Given the description of an element on the screen output the (x, y) to click on. 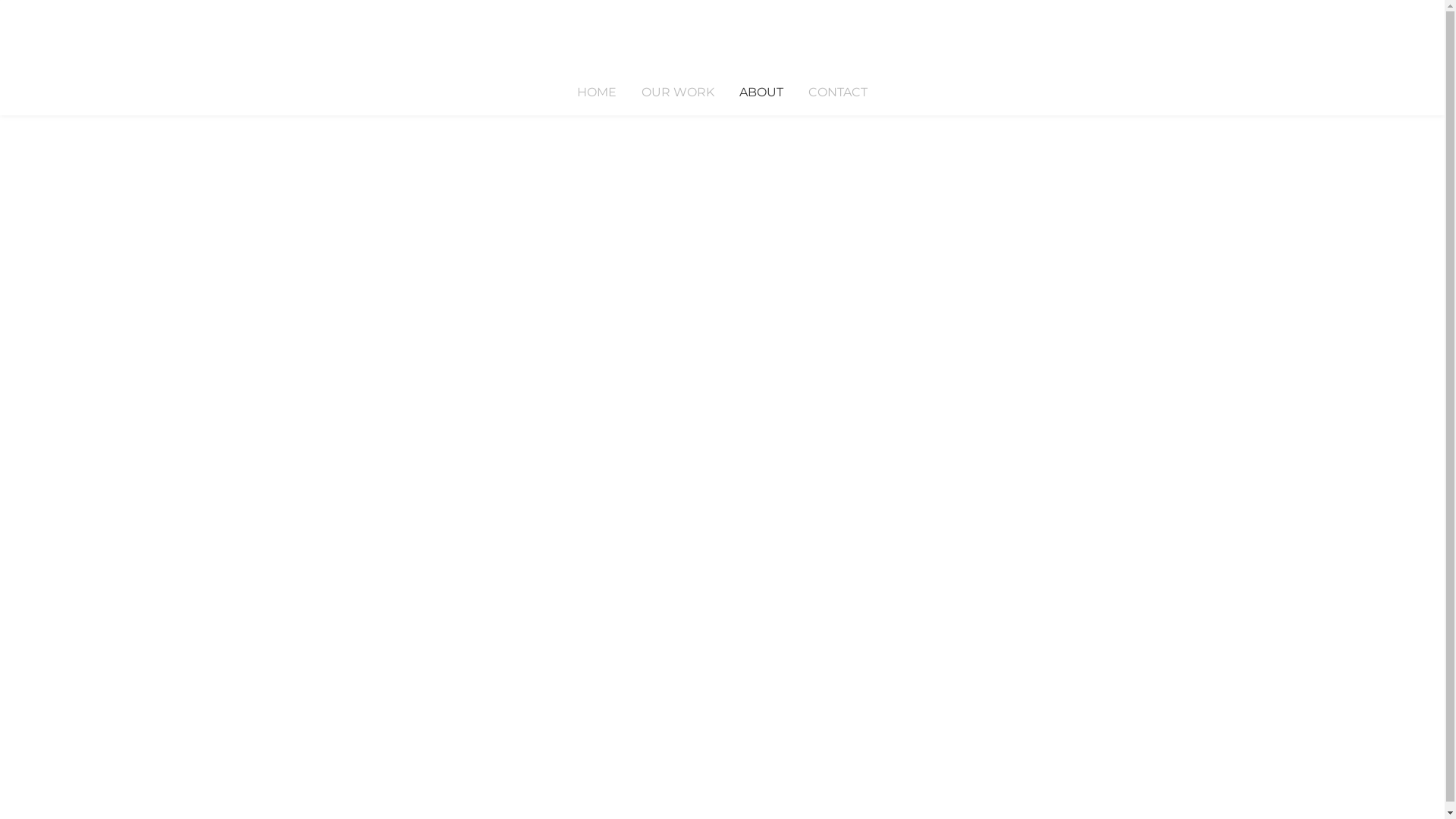
HOME Element type: text (596, 92)
CONTACT Element type: text (837, 92)
ABOUT Element type: text (761, 92)
OUR WORK Element type: text (677, 92)
